Given the description of an element on the screen output the (x, y) to click on. 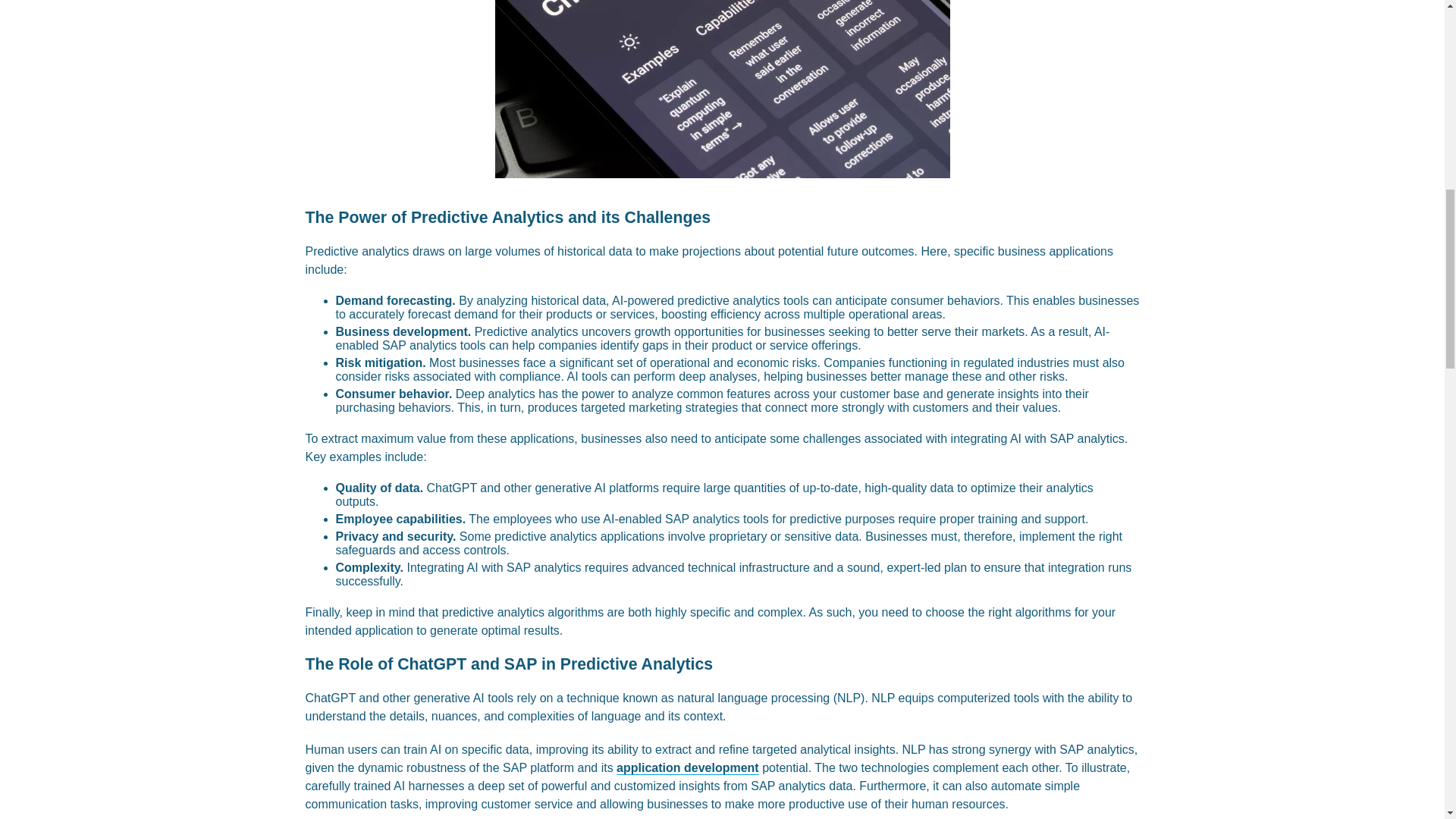
application development (686, 767)
